Given the description of an element on the screen output the (x, y) to click on. 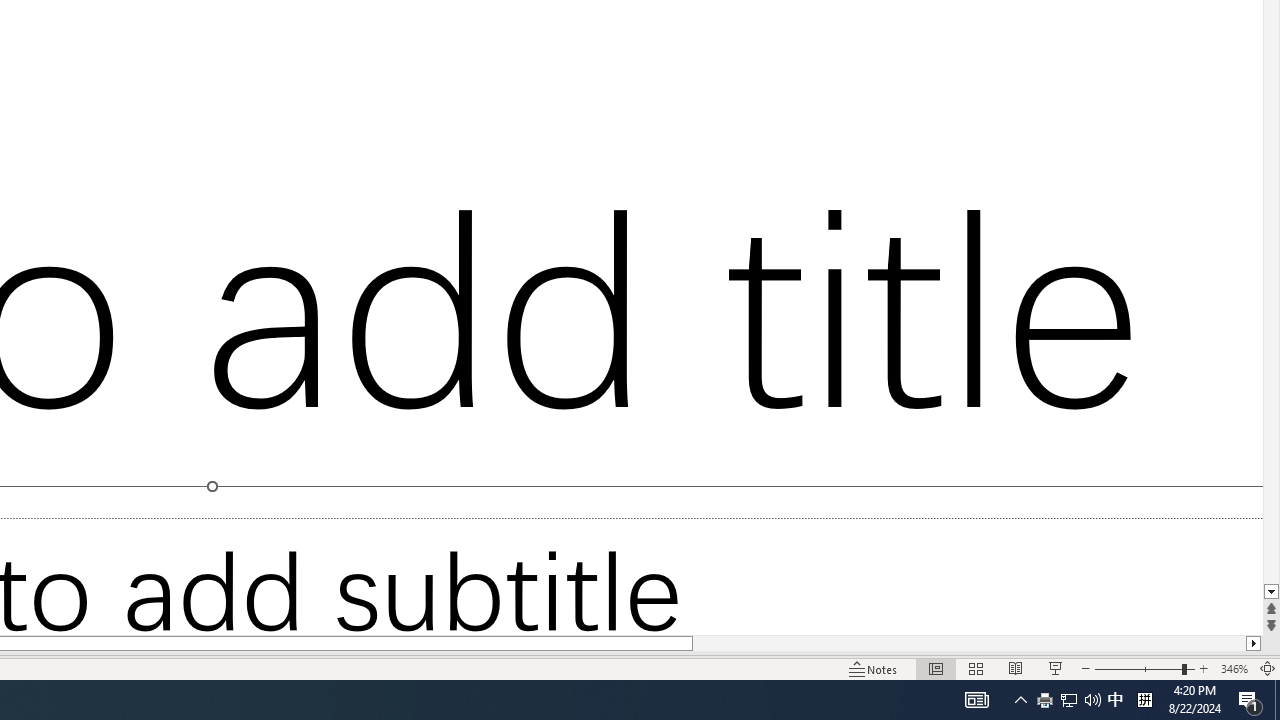
Zoom 346% (1234, 668)
